Given the description of an element on the screen output the (x, y) to click on. 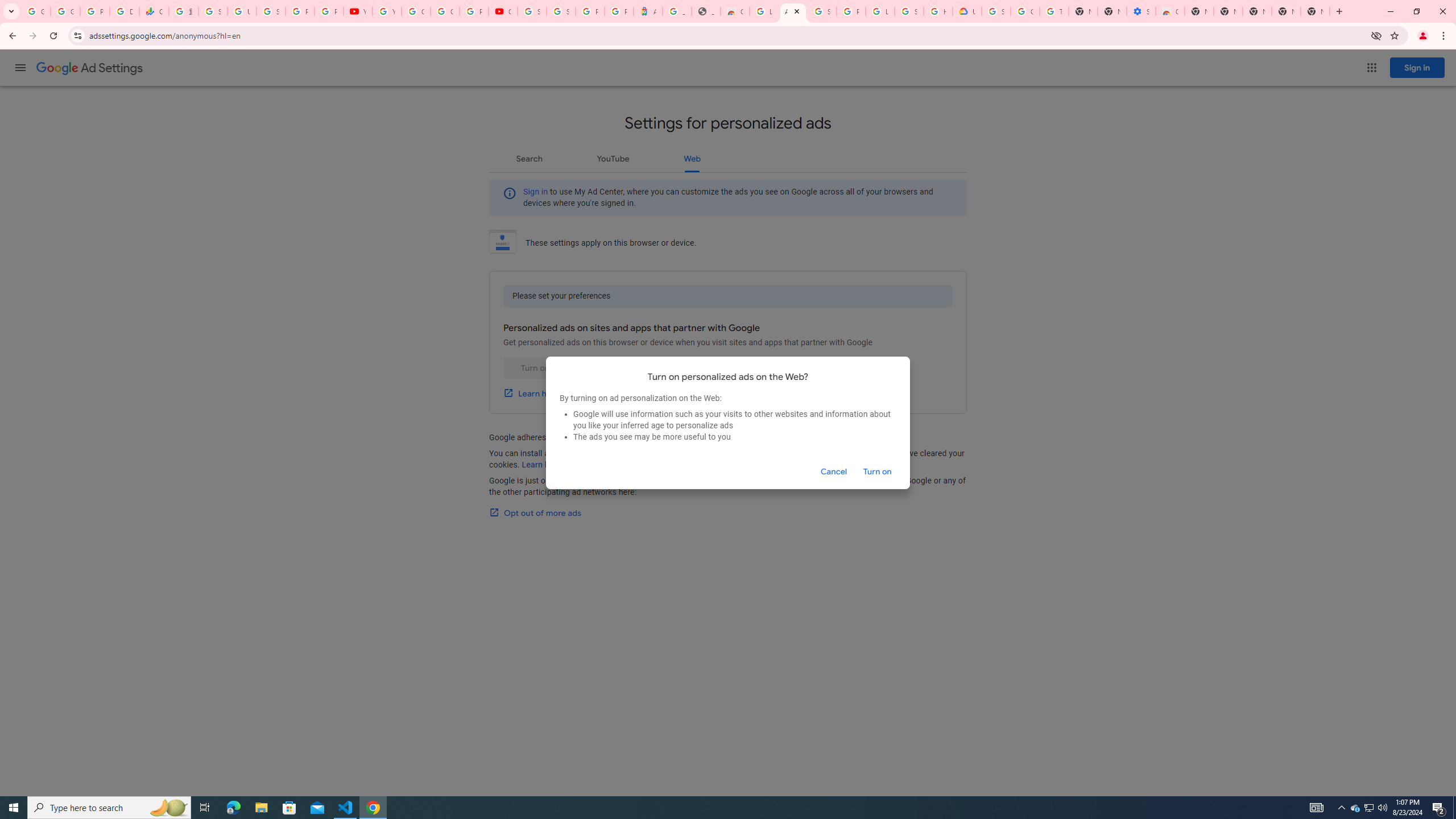
Atour Hotel - Google hotels (648, 11)
Turn on (876, 471)
New Tab (1315, 11)
Sign in - Google Accounts (908, 11)
Sign in - Google Accounts (531, 11)
